Given the description of an element on the screen output the (x, y) to click on. 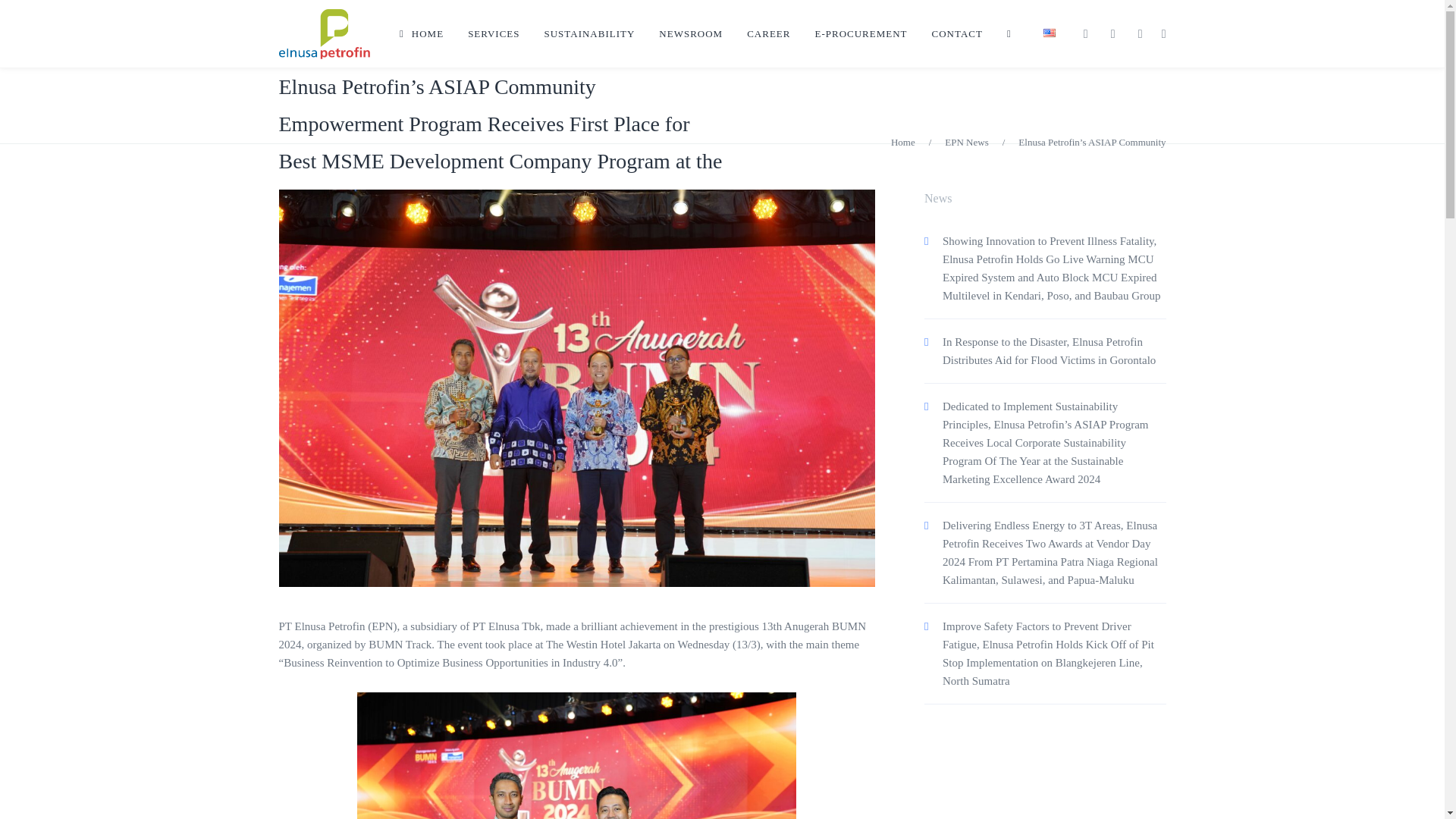
SUSTAINABILITY (589, 33)
HOME (421, 33)
E-PROCUREMENT (860, 33)
Home (903, 142)
CAREER (768, 33)
SERVICES (493, 33)
PT Elnusa Petrofin Official Website (324, 34)
CONTACT (957, 33)
Elnusa Petrofin Home Page (421, 33)
NEWSROOM (690, 33)
